Given the description of an element on the screen output the (x, y) to click on. 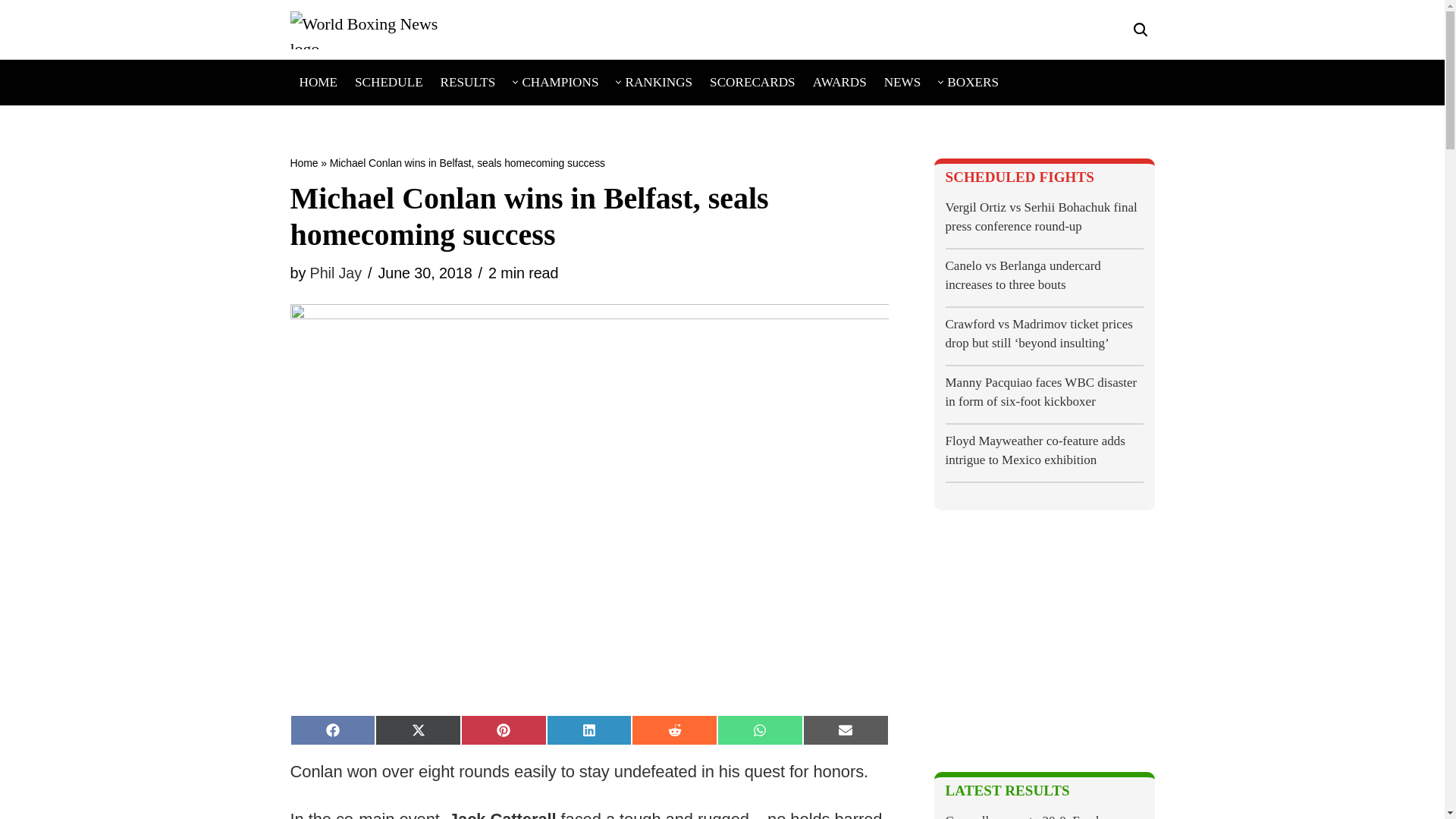
HOME (317, 81)
RESULTS (468, 81)
NEWS (902, 81)
Posts by Phil Jay (335, 272)
BOXERS (972, 81)
RANKINGS (658, 81)
SCHEDULE (389, 81)
AWARDS (839, 81)
SCORECARDS (752, 81)
Skip to content (11, 31)
